Given the description of an element on the screen output the (x, y) to click on. 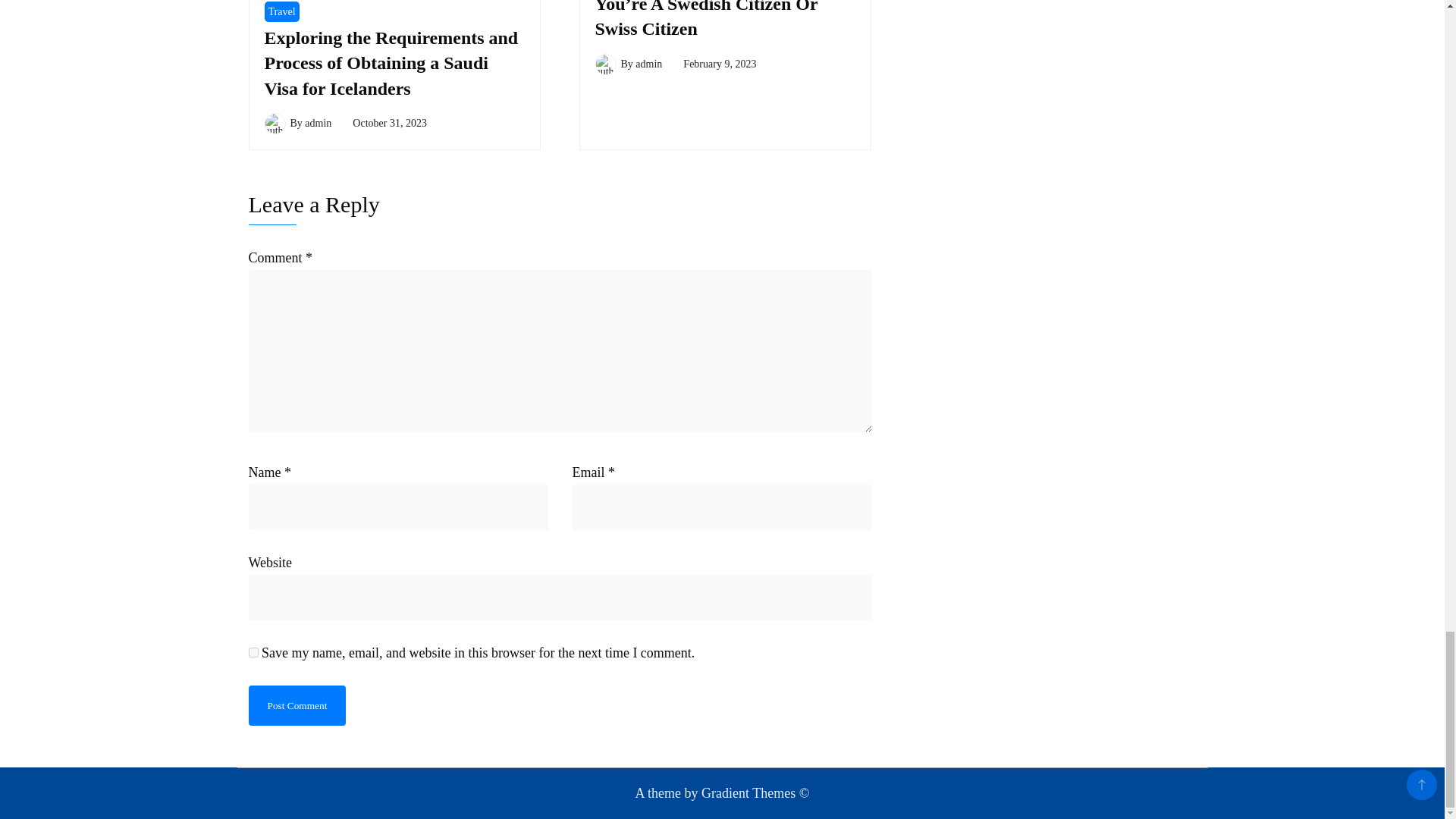
Post Comment (297, 705)
yes (253, 652)
